Given the description of an element on the screen output the (x, y) to click on. 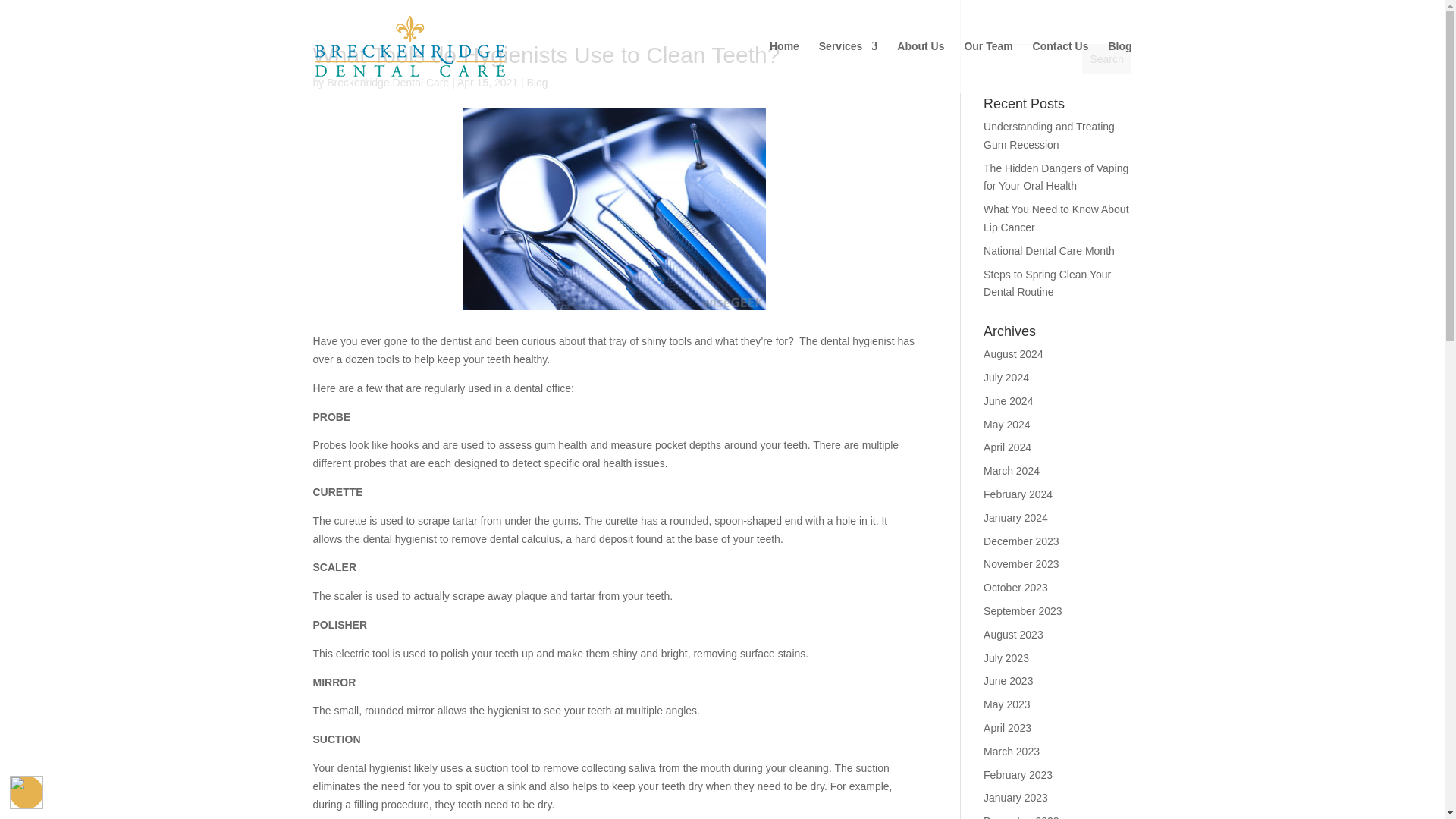
Accessibility Menu (26, 792)
What You Need to Know About Lip Cancer (1056, 218)
Steps to Spring Clean Your Dental Routine (1047, 283)
Understanding and Treating Gum Recession (1049, 135)
Services (847, 66)
Search (1106, 59)
Search (1106, 59)
Blog (537, 82)
June 2024 (1008, 400)
July 2024 (1006, 377)
